Given the description of an element on the screen output the (x, y) to click on. 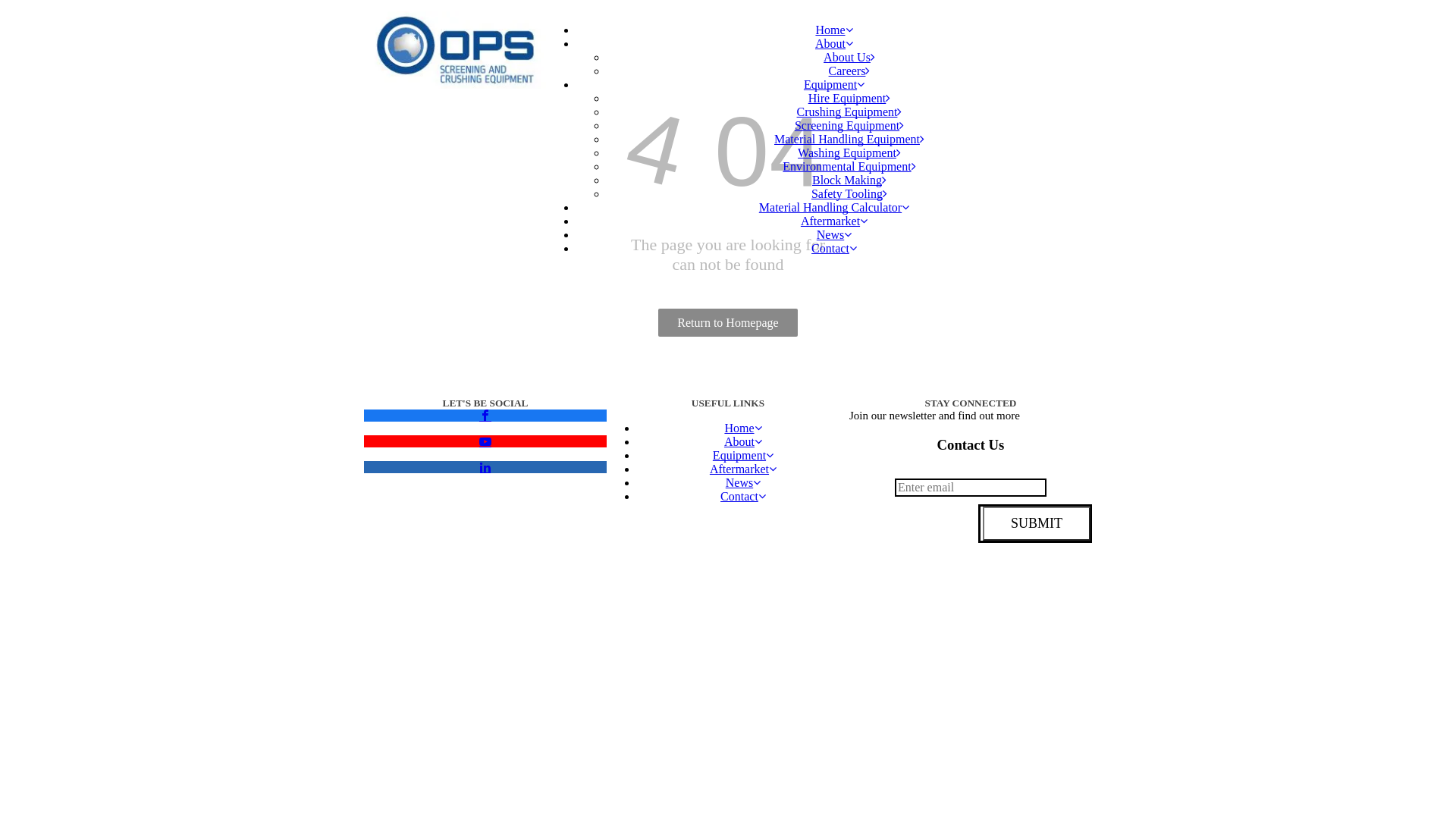
Equipment Element type: text (742, 454)
About Element type: text (834, 43)
Aftermarket Element type: text (742, 468)
About Element type: text (743, 441)
Equipment Element type: text (833, 84)
Material Handling Calculator Element type: text (834, 206)
Screening Equipment Element type: text (848, 125)
Material Handling Equipment Element type: text (849, 138)
Hire Equipment Element type: text (849, 97)
Home Element type: text (742, 427)
Block Making Element type: text (849, 179)
Washing Equipment Element type: text (848, 152)
Return to Homepage Element type: text (727, 322)
Contact Element type: text (742, 495)
About Us Element type: text (849, 56)
News Element type: text (742, 482)
Contact Element type: text (833, 247)
SUBMIT Element type: text (1035, 523)
Environmental Equipment Element type: text (848, 166)
Aftermarket Element type: text (833, 220)
Careers Element type: text (849, 70)
Home Element type: text (833, 29)
Crushing Equipment Element type: text (849, 111)
Safety Tooling Element type: text (849, 193)
News Element type: text (833, 234)
